Given the description of an element on the screen output the (x, y) to click on. 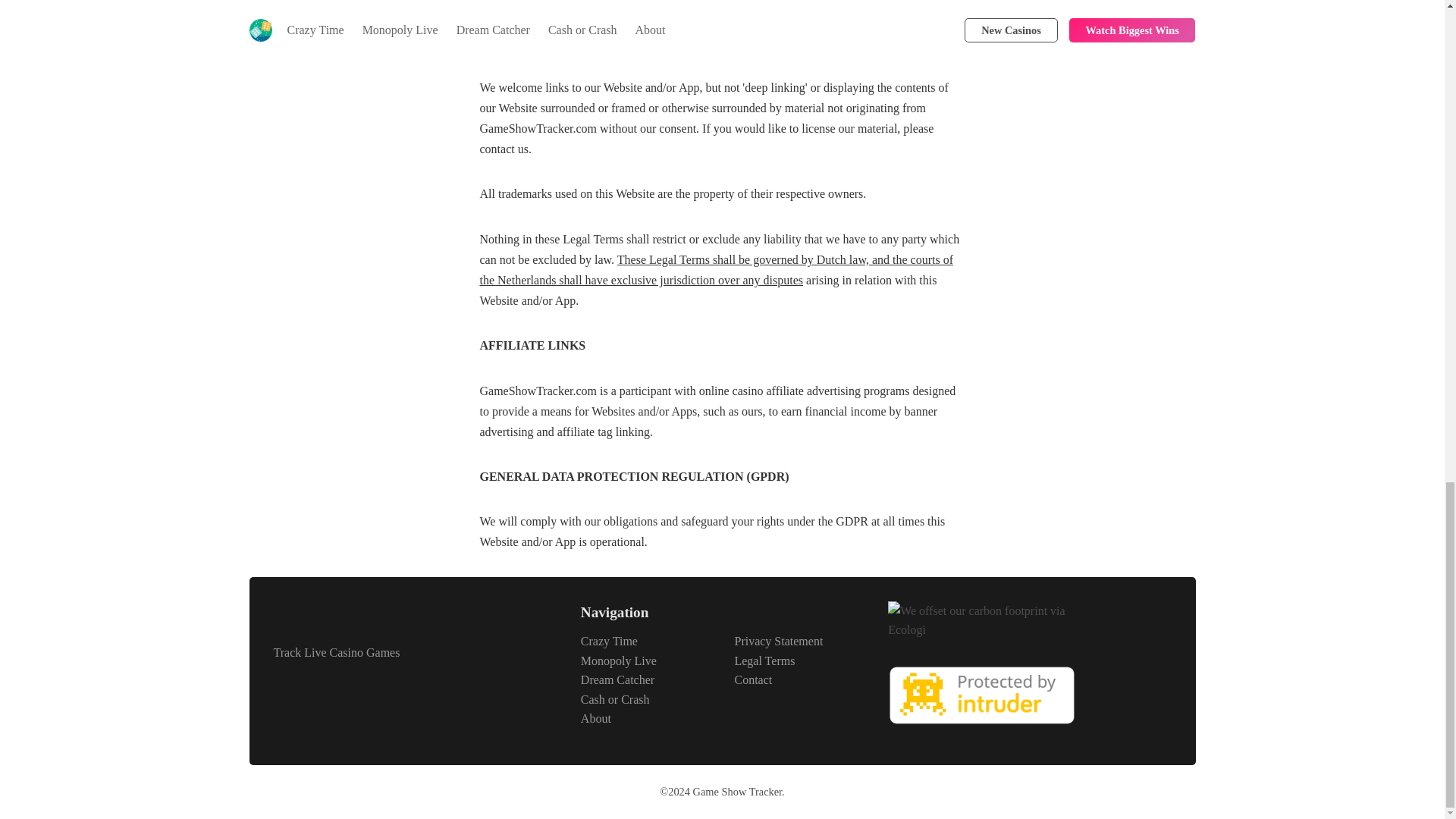
About (595, 718)
Privacy Statement (777, 640)
Monopoly Live (618, 660)
View our Ecologi profile (982, 620)
Crazy Time (608, 640)
Dream Catcher (616, 679)
An Effortless Vulnerability Scanner (982, 727)
Cash or Crash (614, 699)
